Given the description of an element on the screen output the (x, y) to click on. 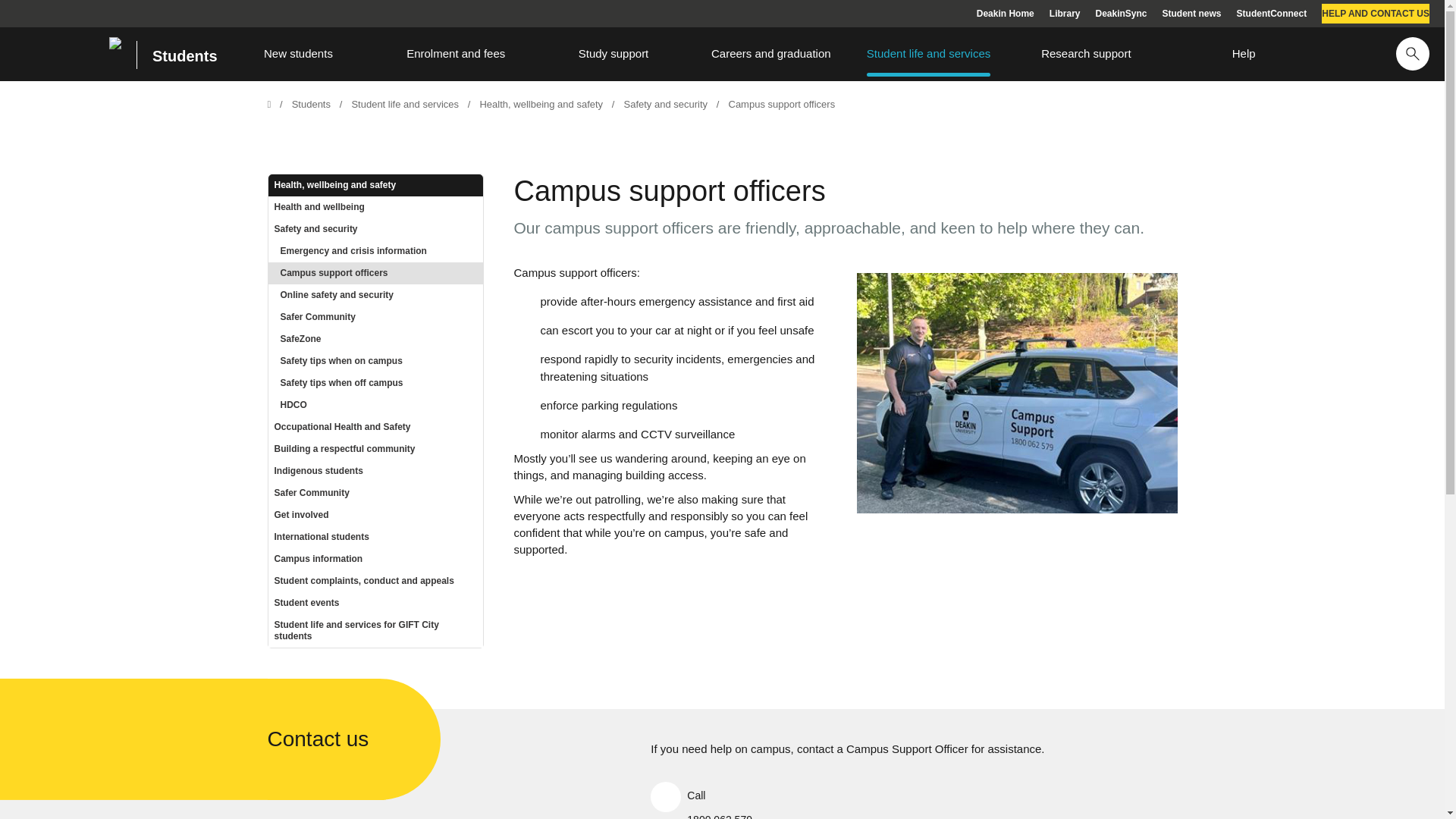
Visit Deakin University Australia (1004, 13)
Visit StudentConnect (1271, 13)
Help and contact us (1375, 13)
Visit DeakinSync (1120, 13)
Students (176, 54)
Visit the Library (1064, 13)
Visit DeakinLife (1191, 13)
New students (298, 53)
